Given the description of an element on the screen output the (x, y) to click on. 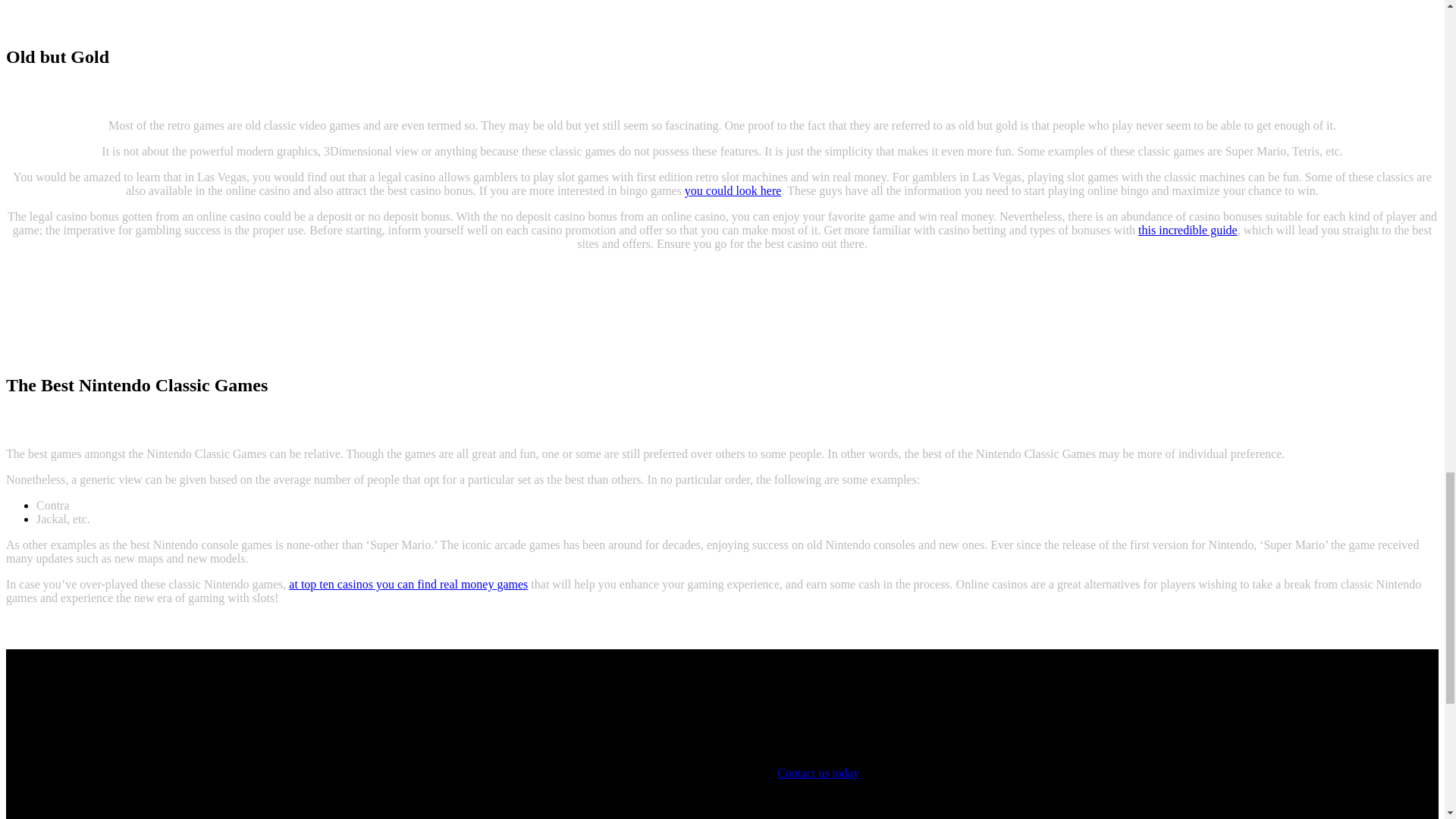
you could look here (732, 190)
at top ten casinos you can find real money games (407, 584)
Contact us today (818, 772)
this incredible guide (1187, 229)
